Given the description of an element on the screen output the (x, y) to click on. 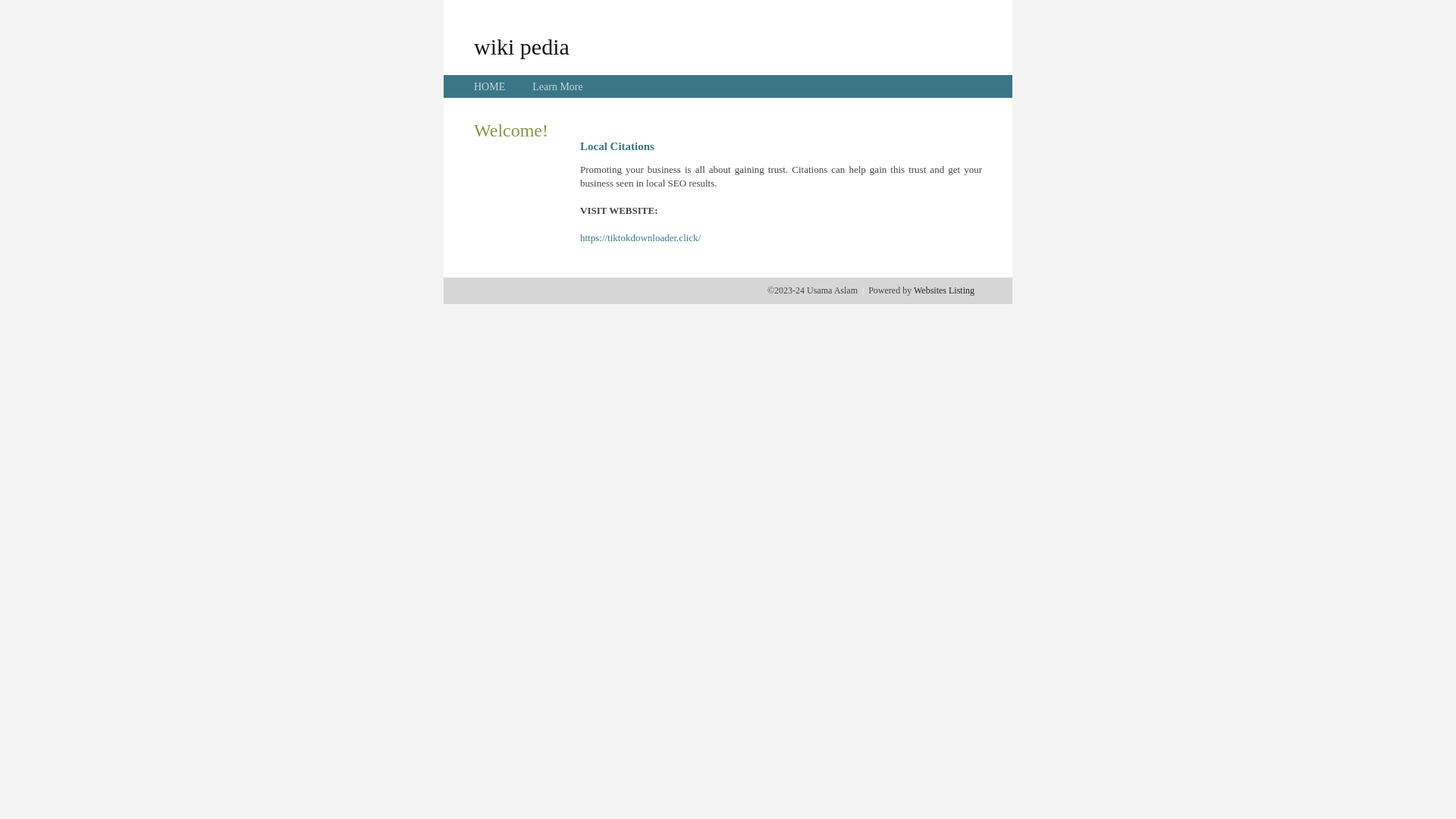
wiki pedia Element type: text (521, 46)
https://tiktokdownloader.click/ Element type: text (640, 237)
Websites Listing Element type: text (943, 290)
HOME Element type: text (489, 86)
Learn More Element type: text (557, 86)
